Given the description of an element on the screen output the (x, y) to click on. 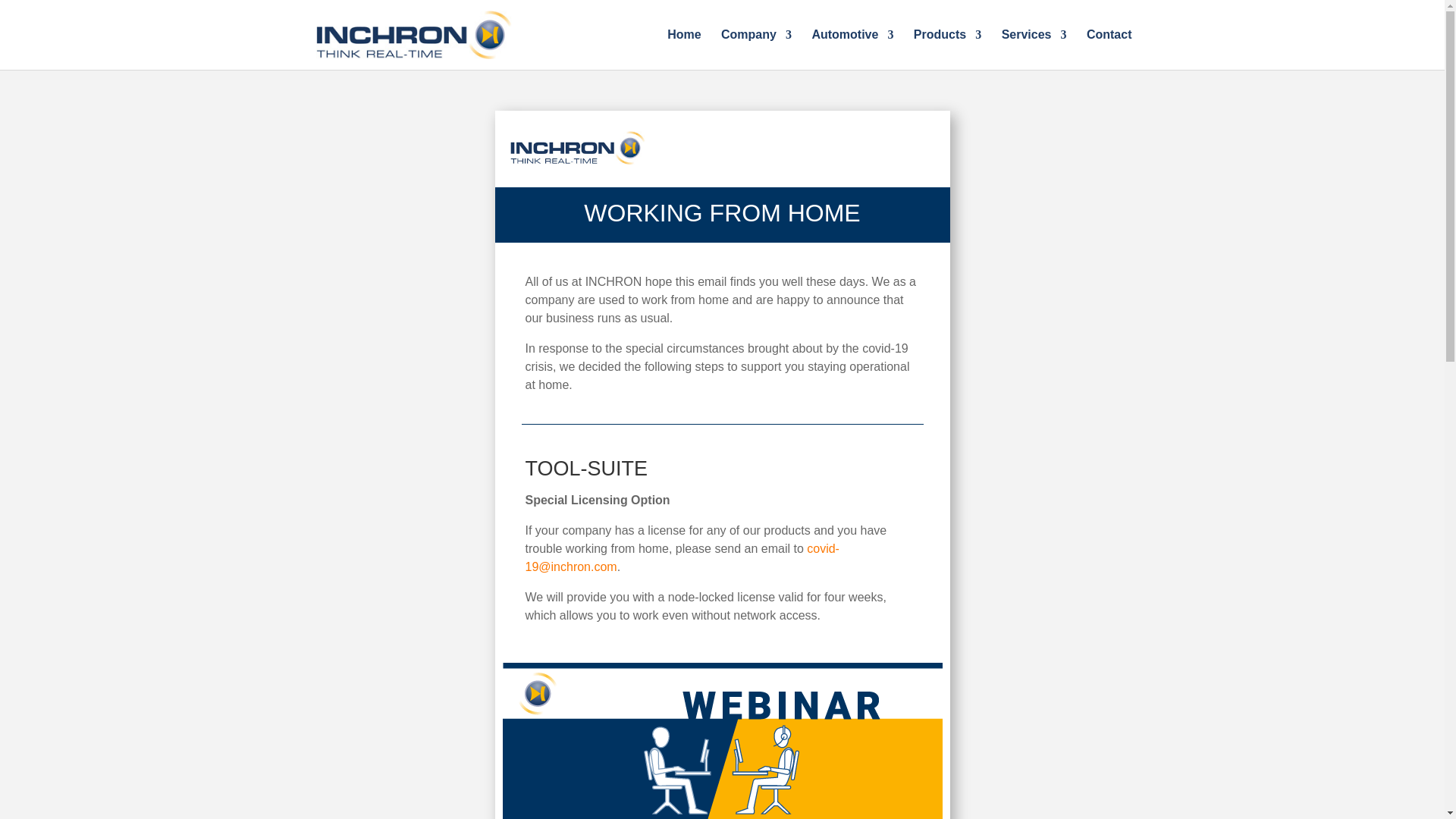
Automotive (851, 49)
Contact (1109, 49)
Products (947, 49)
Services (1034, 49)
Company (756, 49)
